Given the description of an element on the screen output the (x, y) to click on. 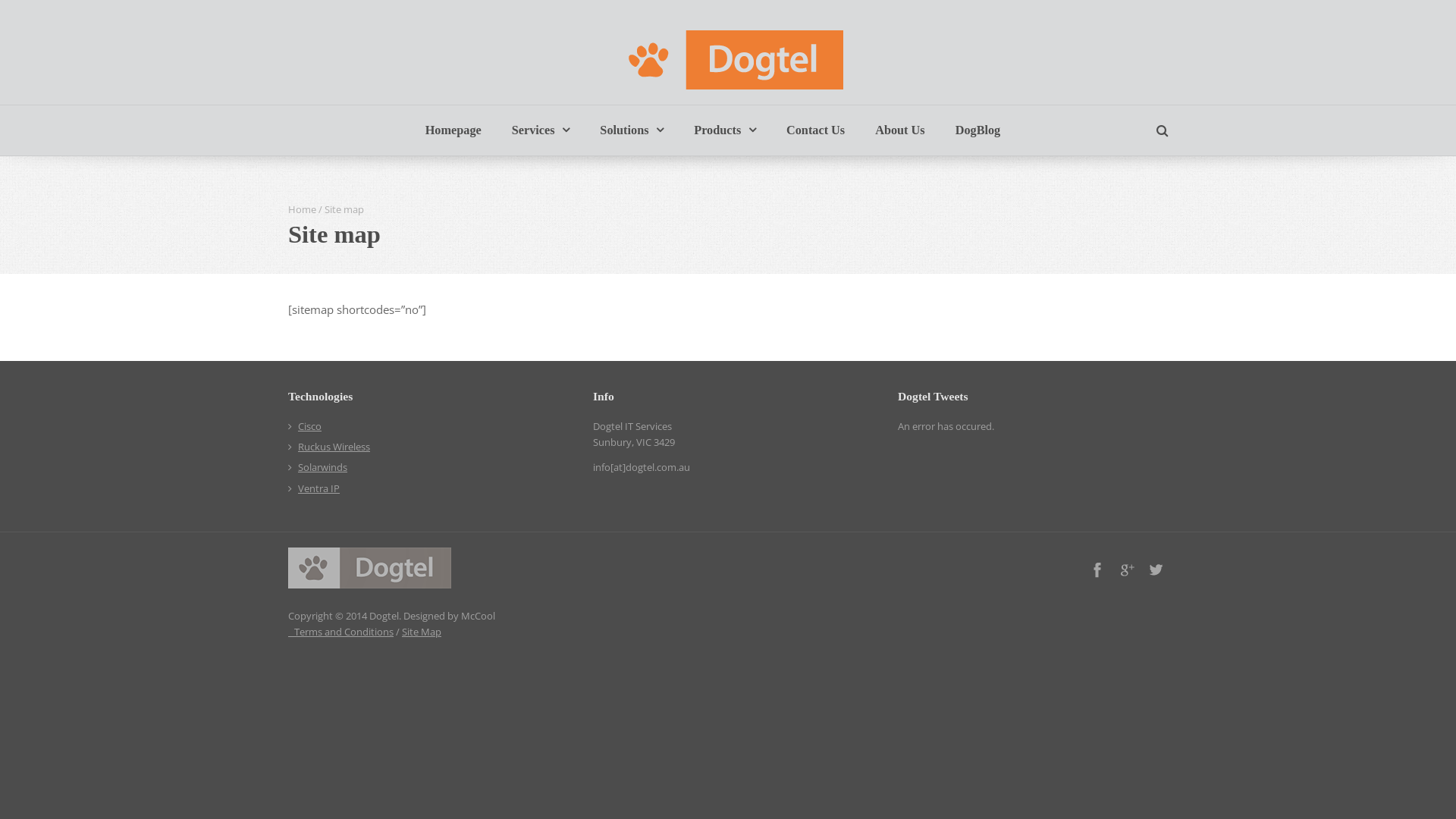
Terms and Conditions Element type: text (340, 631)
Solarwinds Element type: text (322, 466)
Homepage Element type: text (453, 130)
Ruckus Wireless Element type: text (334, 446)
Cisco Element type: text (309, 426)
About Us Element type: text (899, 130)
Facebook Element type: hover (1097, 569)
DogBlog Element type: text (978, 130)
Site Map Element type: text (421, 631)
Home Element type: text (302, 209)
Services Element type: text (540, 130)
Contact Us Element type: text (815, 130)
Google+ Element type: hover (1126, 569)
Twitter Element type: hover (1155, 569)
Products Element type: text (724, 130)
Solutions Element type: text (631, 130)
Ventra IP Element type: text (318, 488)
